Given the description of an element on the screen output the (x, y) to click on. 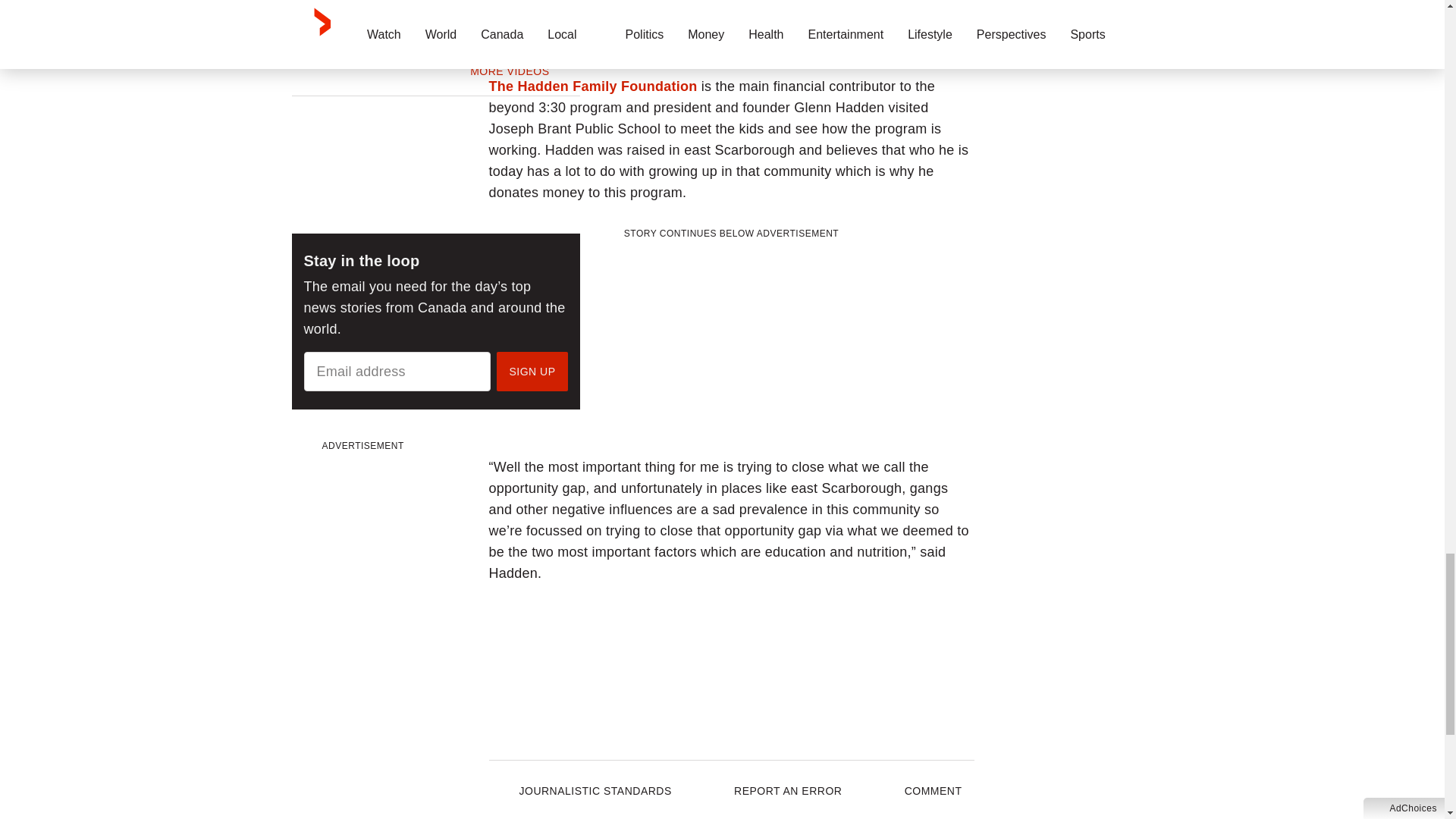
The Hadden Family Foundation (592, 86)
